Given the description of an element on the screen output the (x, y) to click on. 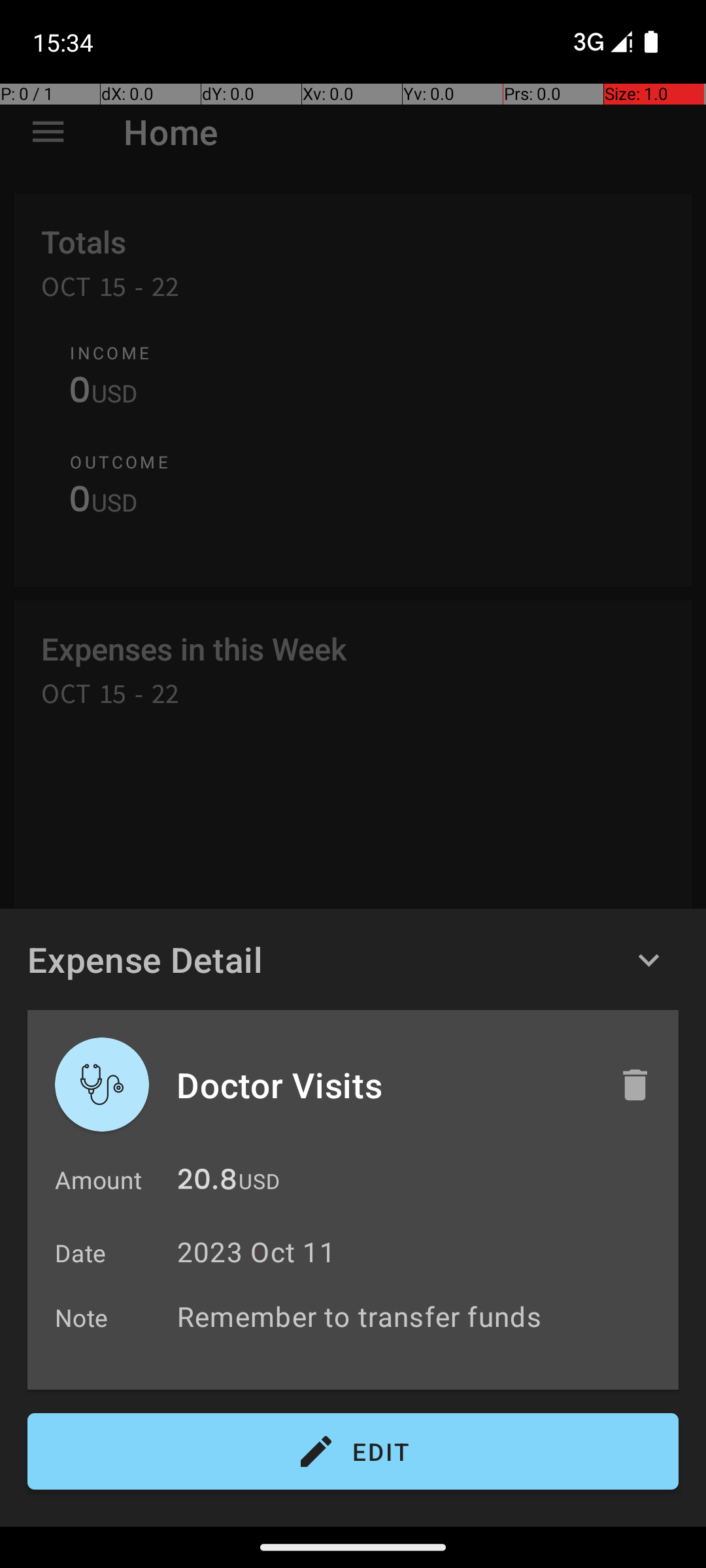
20.8 Element type: android.widget.TextView (206, 1182)
